Given the description of an element on the screen output the (x, y) to click on. 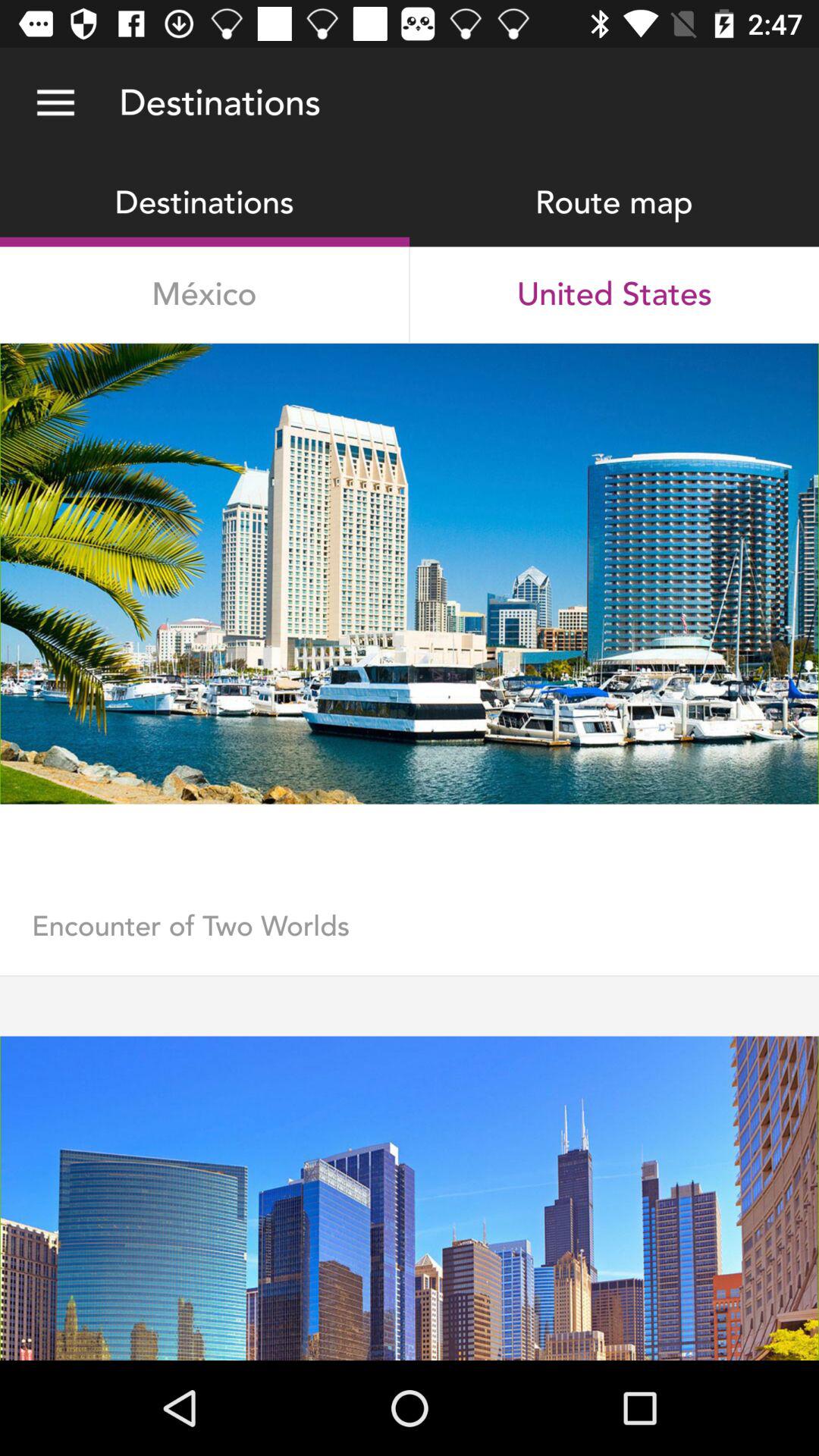
click icon above encounter of two icon (409, 856)
